Given the description of an element on the screen output the (x, y) to click on. 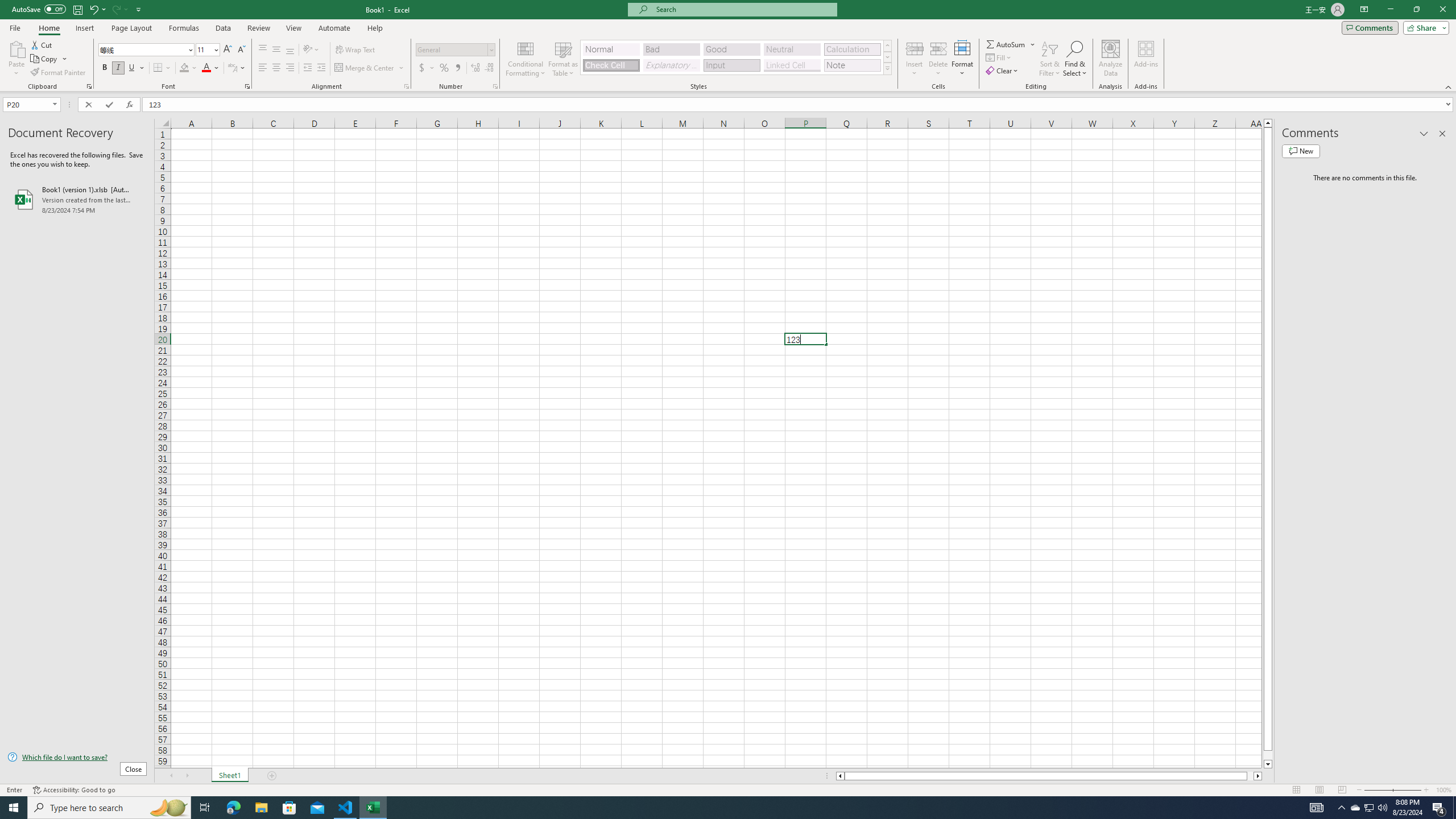
Formula Bar (799, 104)
Cut (42, 44)
Delete Cells... (938, 48)
Insert (914, 58)
File Tab (15, 27)
Paste (16, 48)
Fill Color RGB(255, 255, 0) (183, 67)
Add Sheet (272, 775)
Font Color RGB(255, 0, 0) (206, 67)
Analyze Data (1110, 58)
Accounting Number Format (426, 67)
Fill Color (188, 67)
Merge & Center (369, 67)
